Given the description of an element on the screen output the (x, y) to click on. 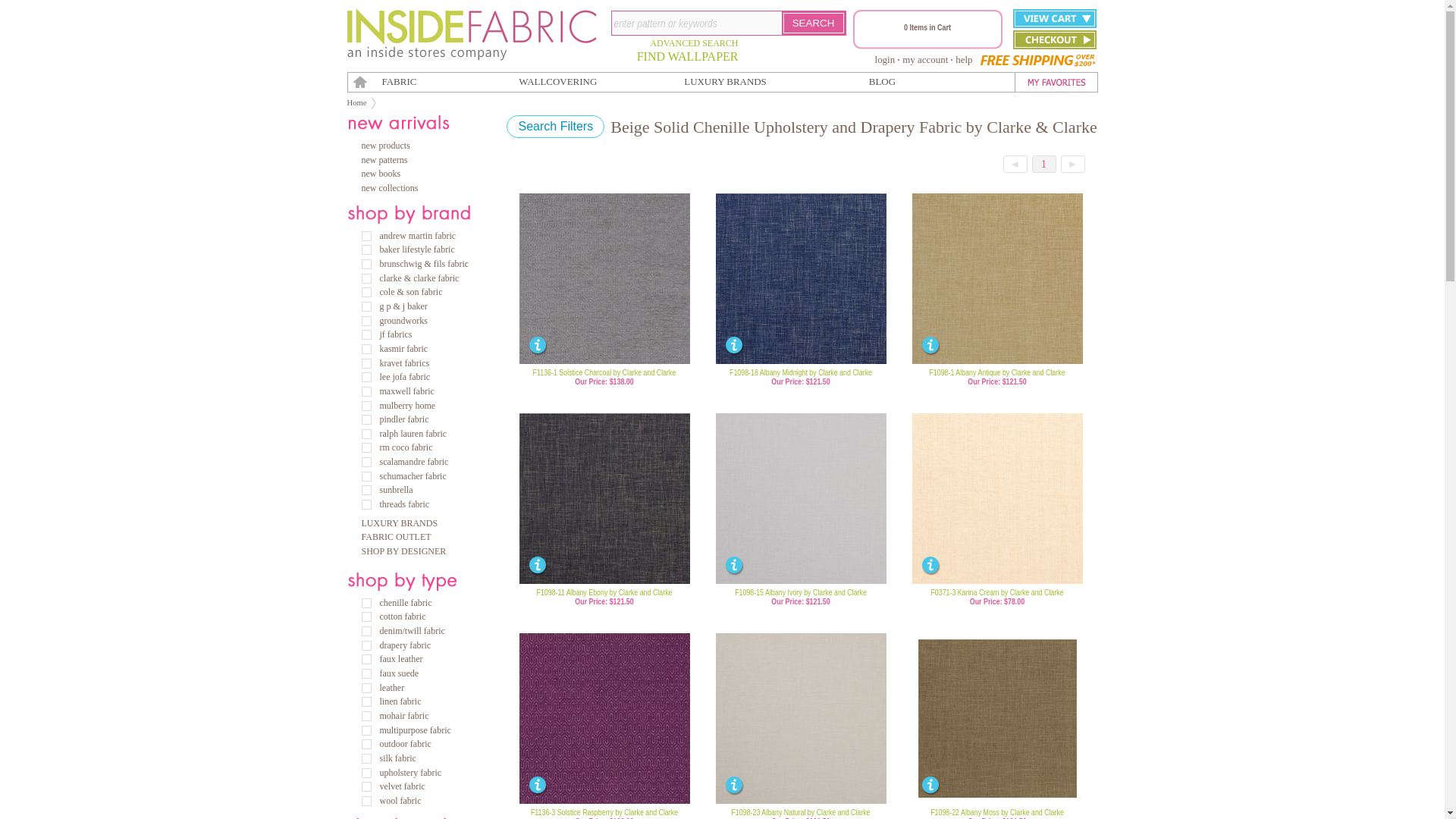
by Style (1027, 298)
by Color and Style (591, 298)
my account (924, 59)
Suggested Products (740, 298)
by Color (1058, 298)
Home (356, 102)
login (885, 59)
Suggested Products (937, 298)
by Color (862, 298)
FIND WALLPAPER (687, 56)
Suggested Products (544, 298)
by Style (830, 298)
SEARCH (813, 23)
ADVANCED SEARCH (693, 42)
help (963, 59)
